Given the description of an element on the screen output the (x, y) to click on. 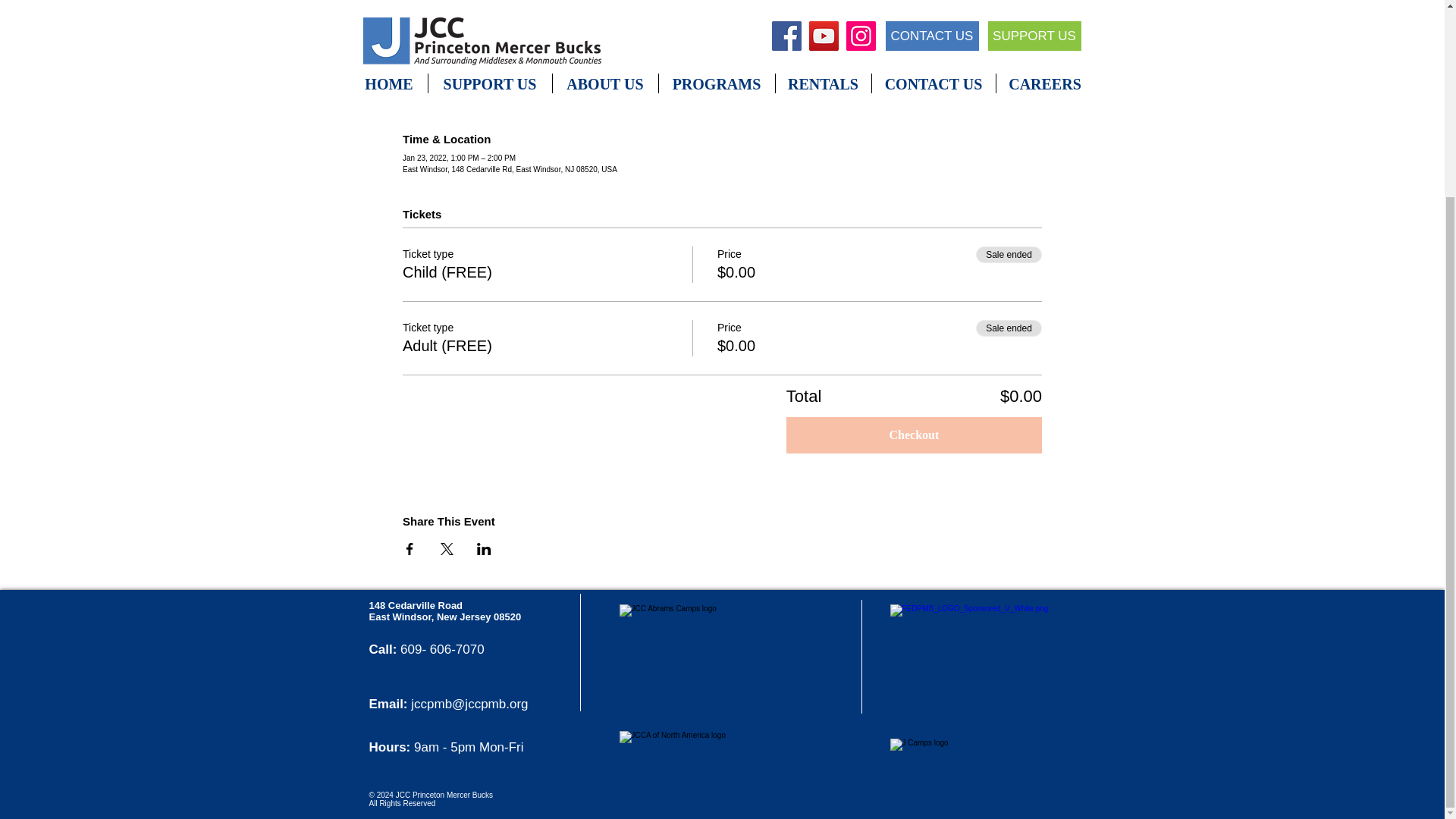
Checkout (914, 434)
609- 606-7070 (442, 649)
See other events (722, 19)
